Given the description of an element on the screen output the (x, y) to click on. 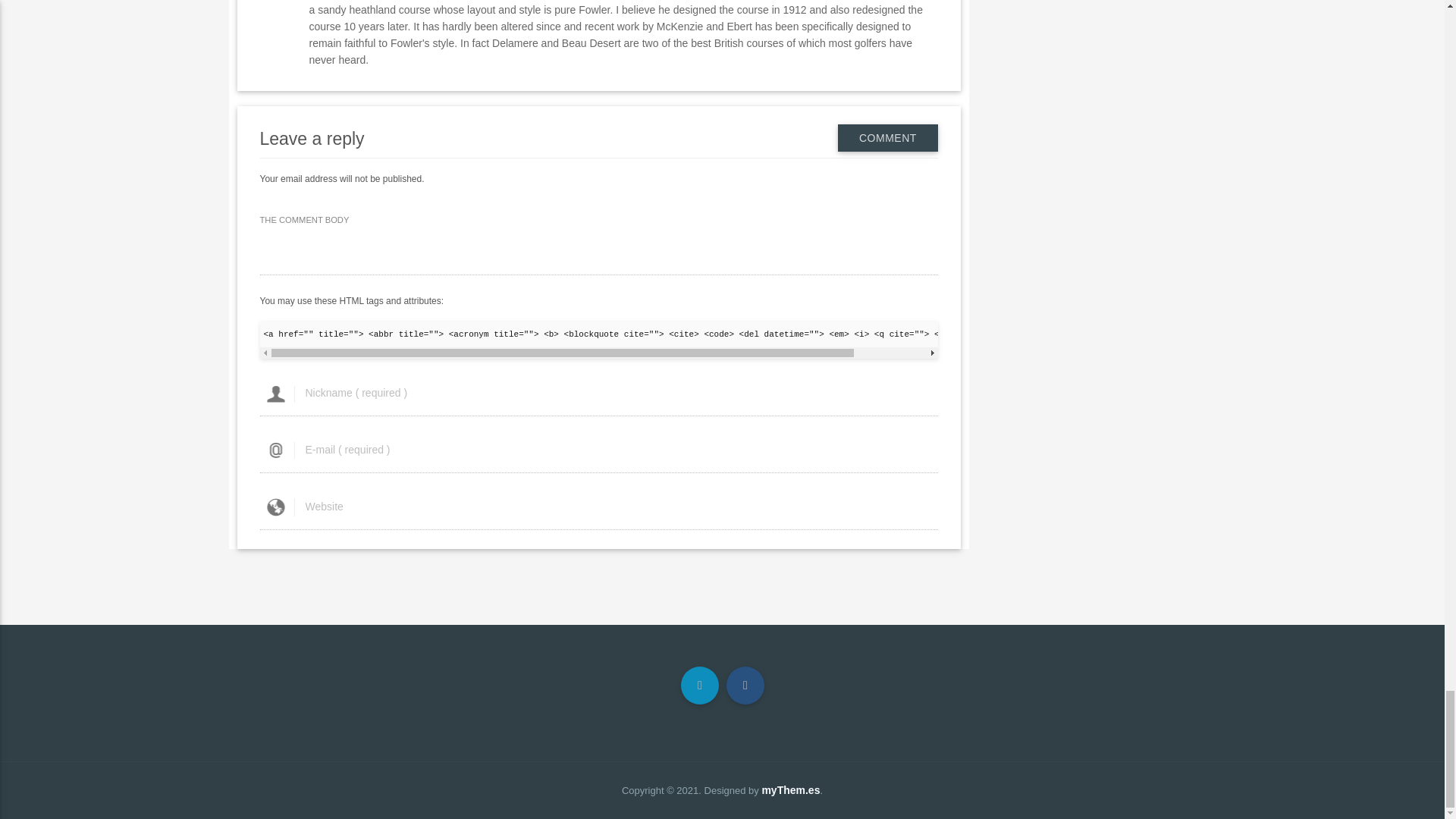
COMMENT (887, 137)
Website (598, 506)
myThem.es (790, 789)
